Given the description of an element on the screen output the (x, y) to click on. 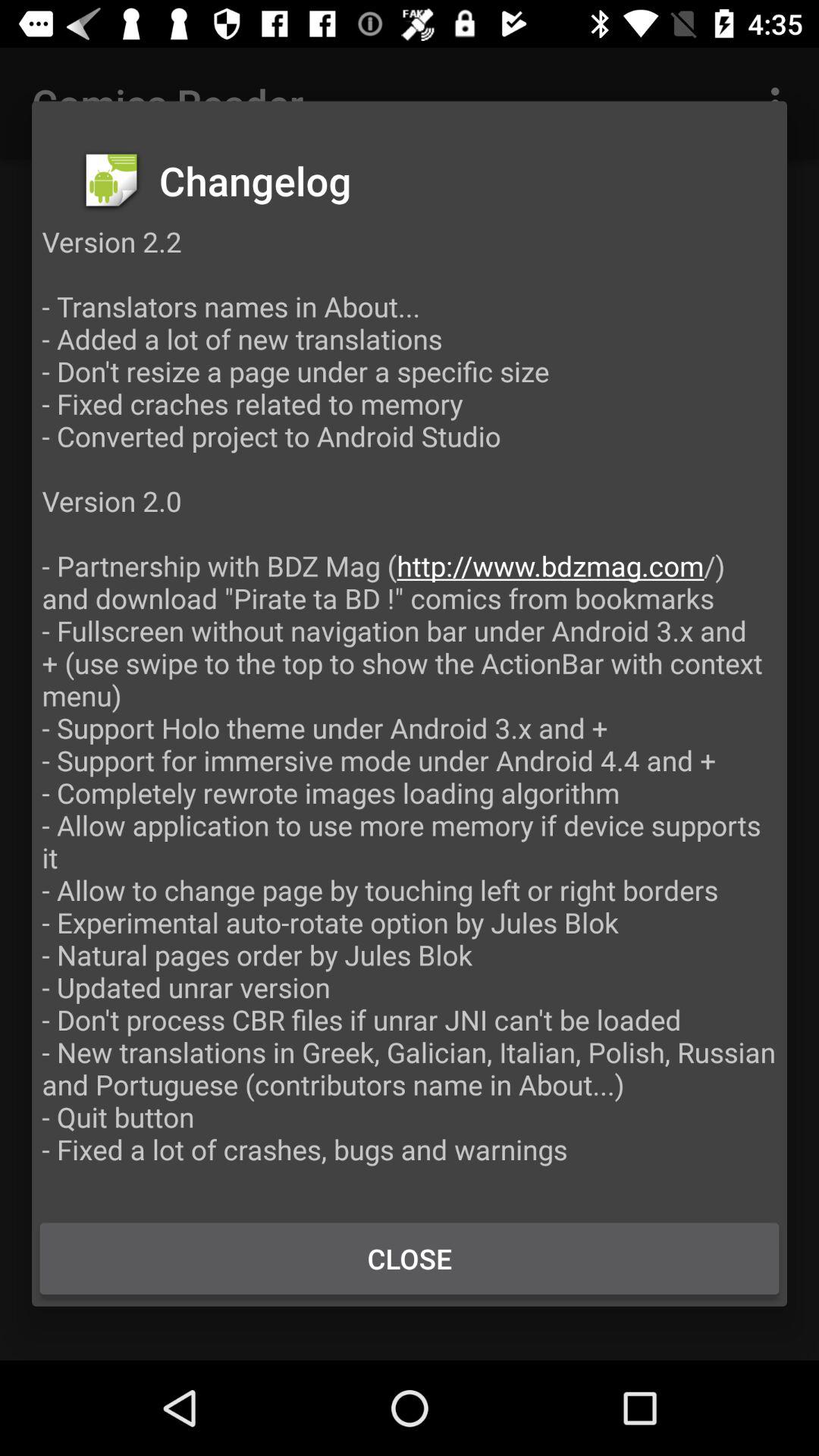
turn off the button at the bottom (409, 1258)
